Given the description of an element on the screen output the (x, y) to click on. 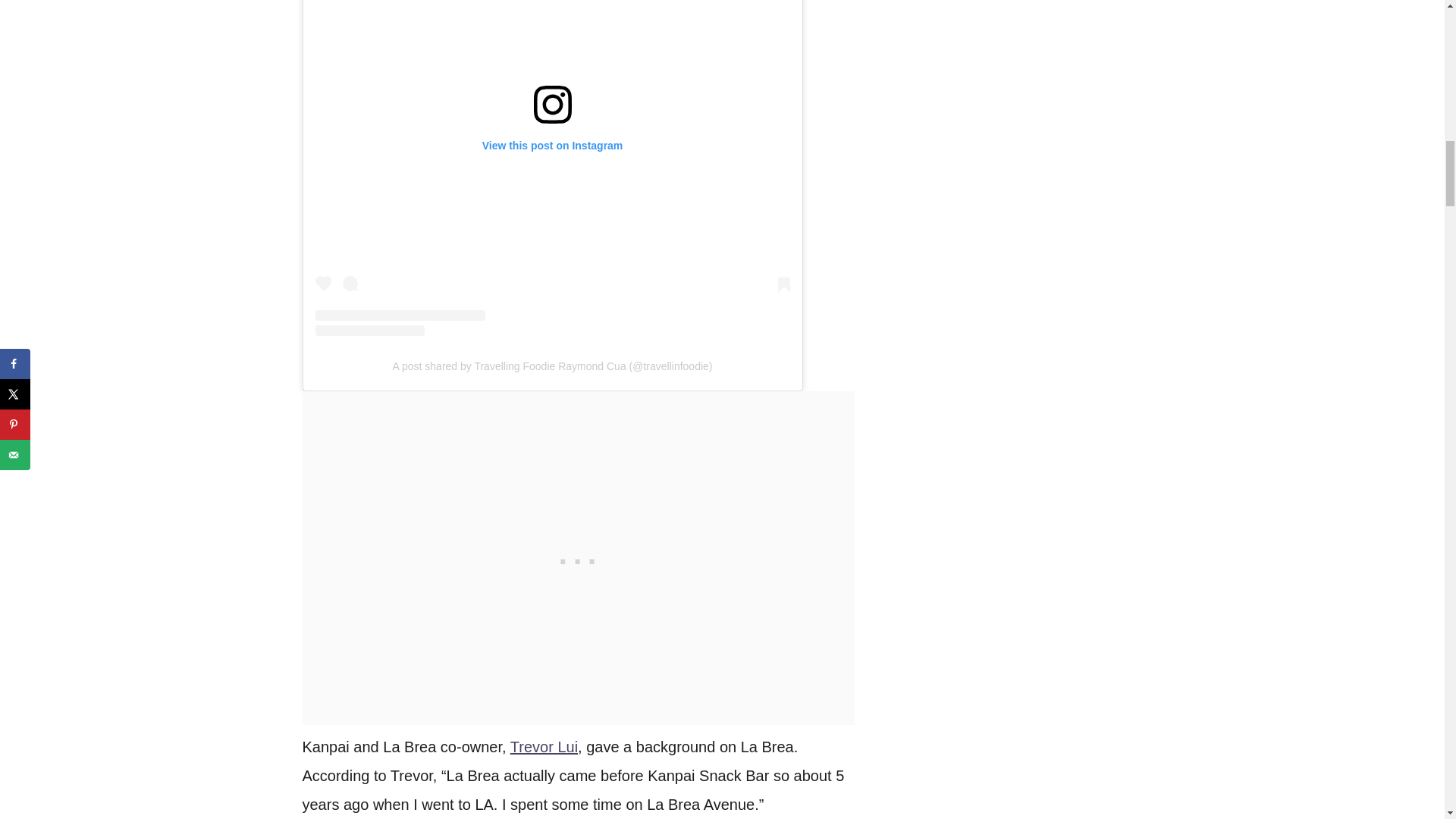
Trevor Lui (544, 746)
